Given the description of an element on the screen output the (x, y) to click on. 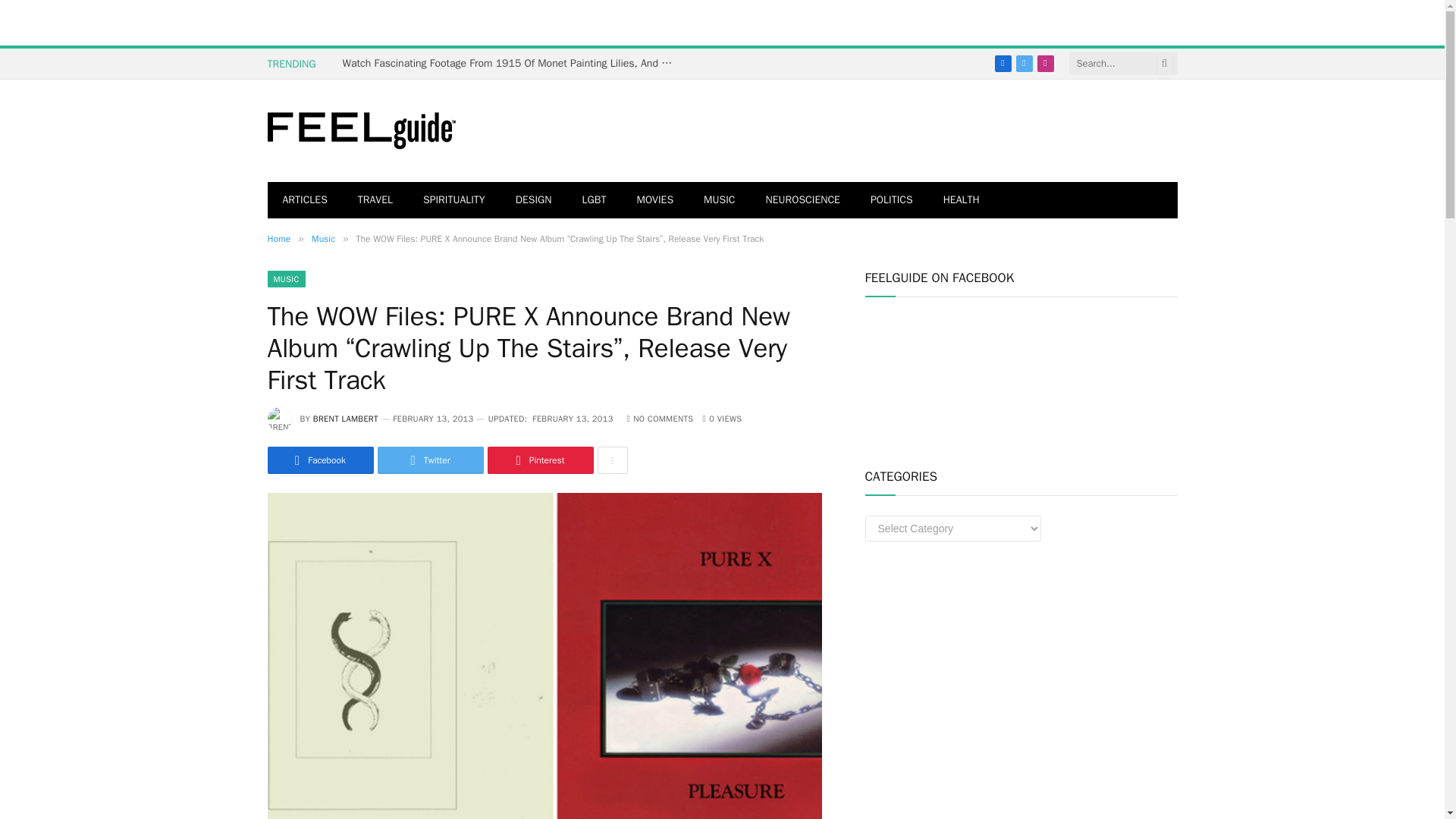
ARTICLES (304, 199)
NEUROSCIENCE (803, 199)
FEELguide (361, 131)
Facebook (1002, 63)
Music (322, 238)
Posts by Brent Lambert (345, 418)
Twitter (430, 460)
Facebook (319, 460)
Home (277, 238)
NO COMMENTS (660, 418)
Share on Facebook (319, 460)
Pinterest (539, 460)
BRENT LAMBERT (345, 418)
HEALTH (961, 199)
0 Article Views (721, 418)
